Given the description of an element on the screen output the (x, y) to click on. 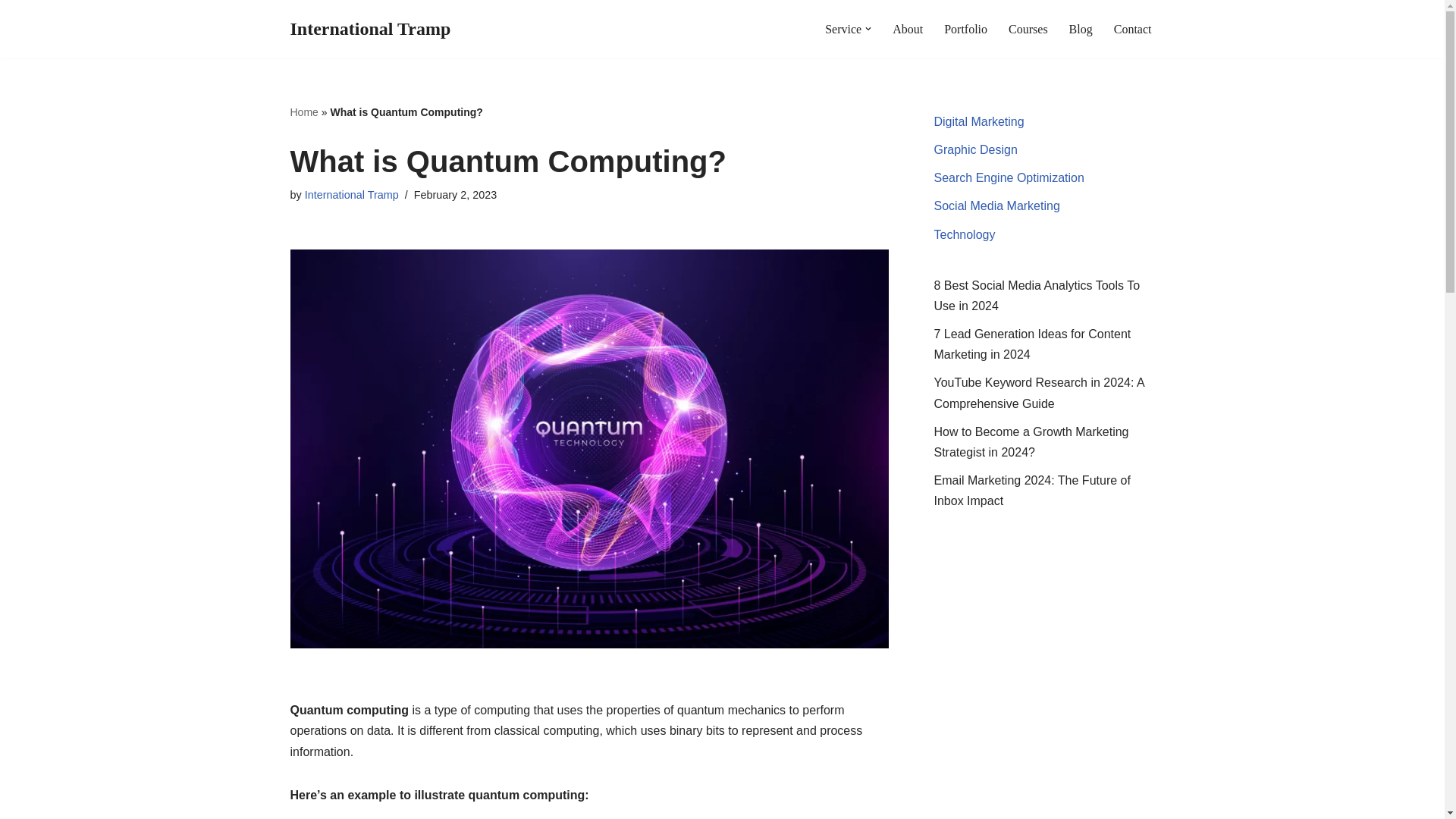
International Tramp (369, 29)
Service (843, 28)
Social Media Marketing (996, 205)
Search Engine Optimization (1009, 177)
7 Lead Generation Ideas for Content Marketing in 2024 (1032, 344)
Digital Marketing (979, 121)
Portfolio (965, 28)
Posts by International Tramp (351, 194)
International Tramp (351, 194)
Home (303, 111)
Blog (1080, 28)
Technology (964, 234)
Contact (1132, 28)
Courses (1028, 28)
About (907, 28)
